Given the description of an element on the screen output the (x, y) to click on. 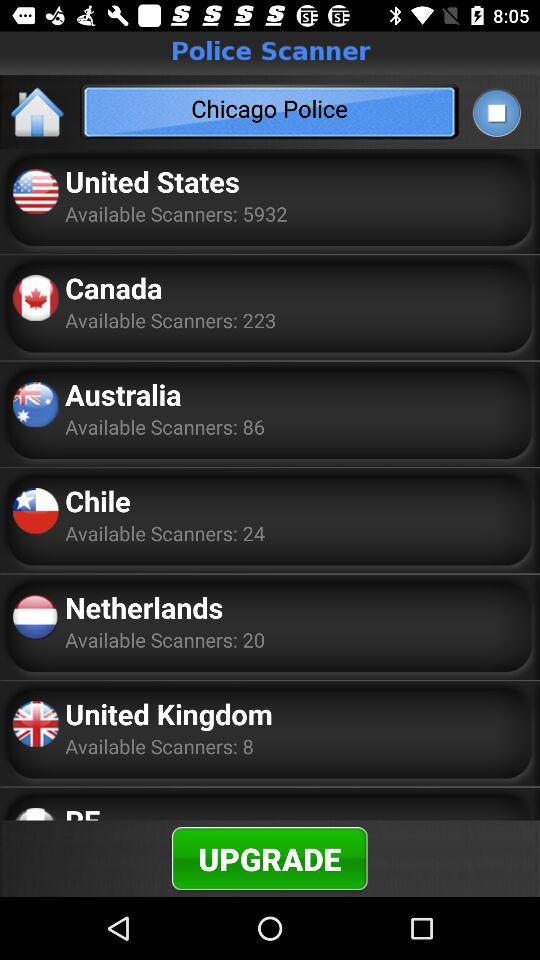
go home (38, 111)
